Given the description of an element on the screen output the (x, y) to click on. 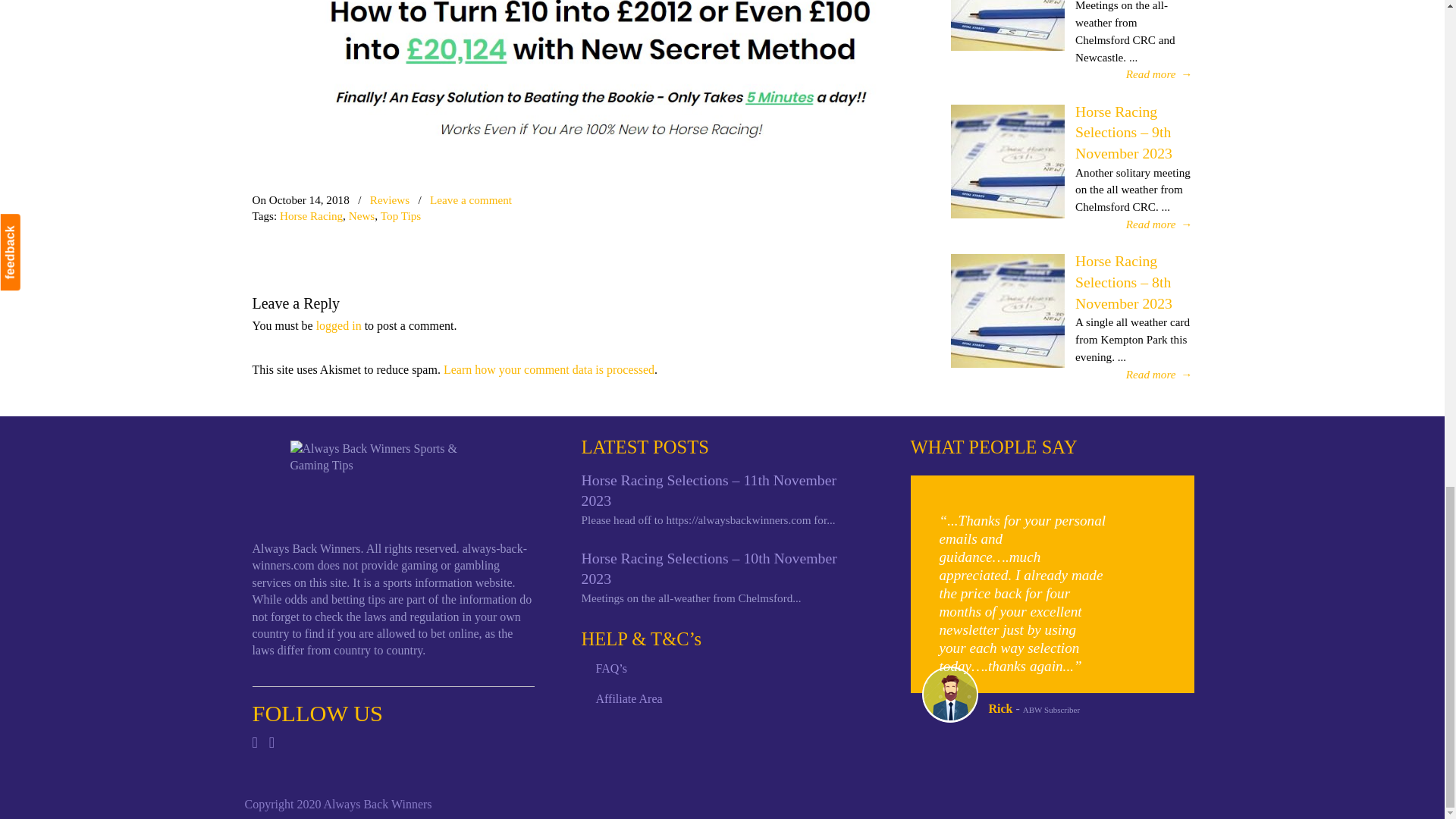
News (362, 215)
Horse Racing (310, 215)
logged in (338, 325)
Top Tips (400, 215)
Reviews (389, 199)
Learn how your comment data is processed (548, 369)
Leave a comment (470, 199)
